Given the description of an element on the screen output the (x, y) to click on. 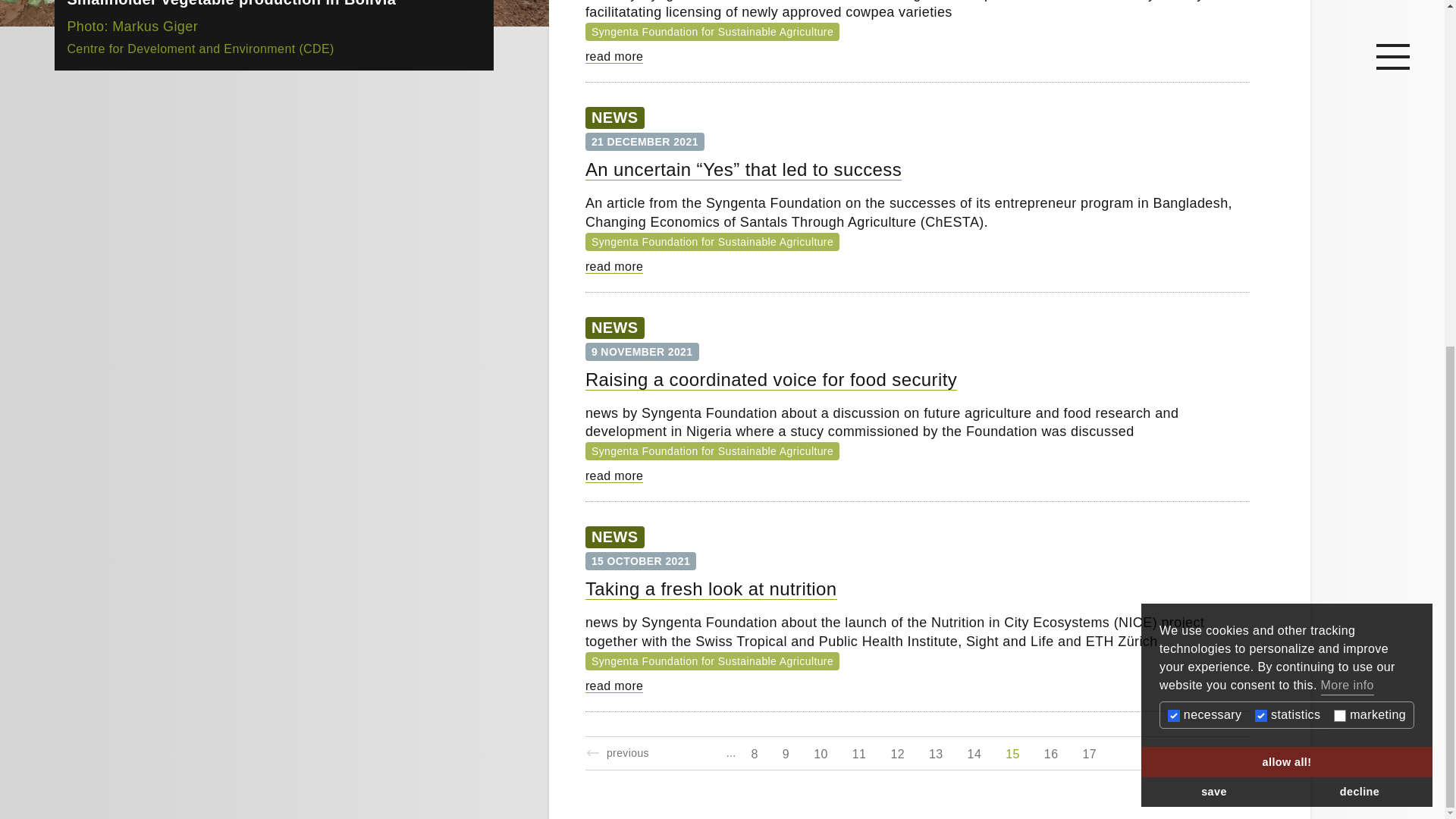
read more (614, 685)
Licenses help tackle the cowpea strangler (614, 56)
NEWS (615, 536)
11 (859, 752)
read more (614, 476)
NEWS (615, 117)
Syngenta Foundation for Sustainable Agriculture (712, 240)
9 (786, 752)
Syngenta Foundation for Sustainable Agriculture (712, 31)
Syngenta Foundation for Sustainable Agriculture (712, 450)
13 (936, 752)
NEWS (615, 327)
News (615, 117)
Taking a fresh look at nutrition (711, 588)
14 (974, 752)
